Given the description of an element on the screen output the (x, y) to click on. 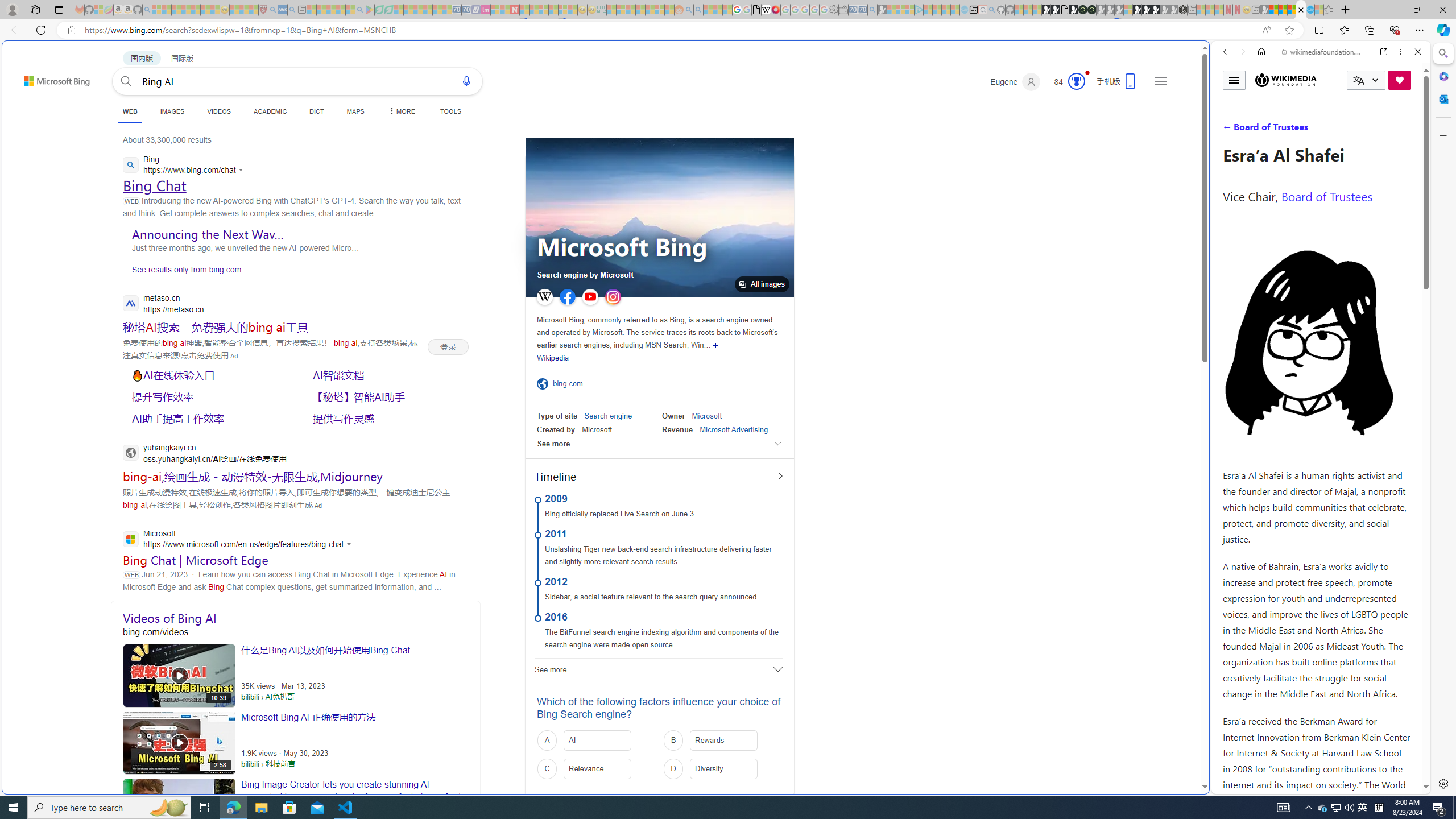
MORE (400, 111)
Play Cave FRVR in your browser | Games from Microsoft Start (922, 242)
Class: i icon icon-translate language-switcher__icon (1358, 80)
DICT (316, 111)
google - Search - Sleeping (359, 9)
All images (762, 284)
wikimediafoundation.org (1323, 51)
Recipes - MSN - Sleeping (234, 9)
MSN (1118, 536)
